Given the description of an element on the screen output the (x, y) to click on. 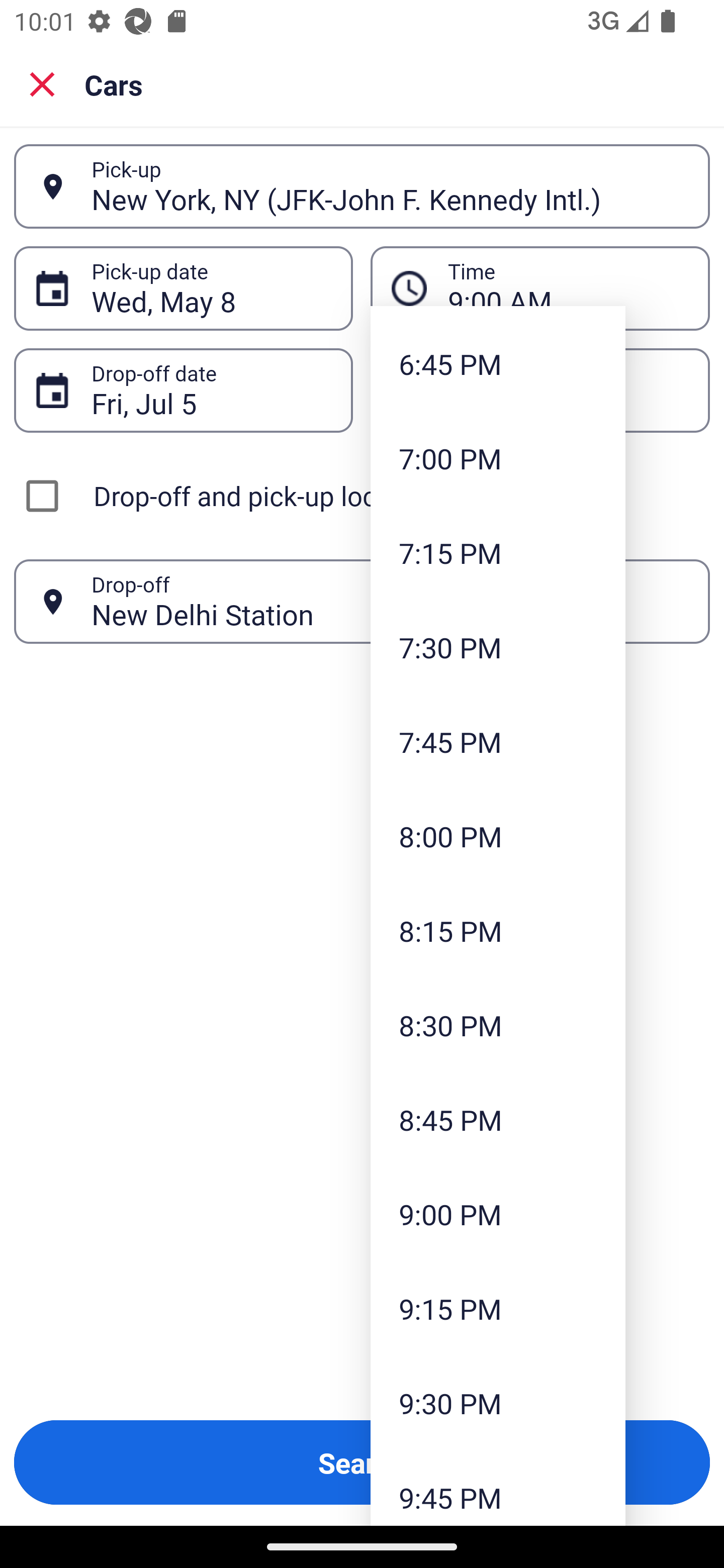
6:45 PM (497, 363)
7:00 PM (497, 457)
7:15 PM (497, 552)
7:30 PM (497, 647)
7:45 PM (497, 741)
8:00 PM (497, 835)
8:15 PM (497, 930)
8:30 PM (497, 1025)
8:45 PM (497, 1119)
9:00 PM (497, 1213)
9:15 PM (497, 1308)
9:30 PM (497, 1403)
9:45 PM (497, 1487)
